Given the description of an element on the screen output the (x, y) to click on. 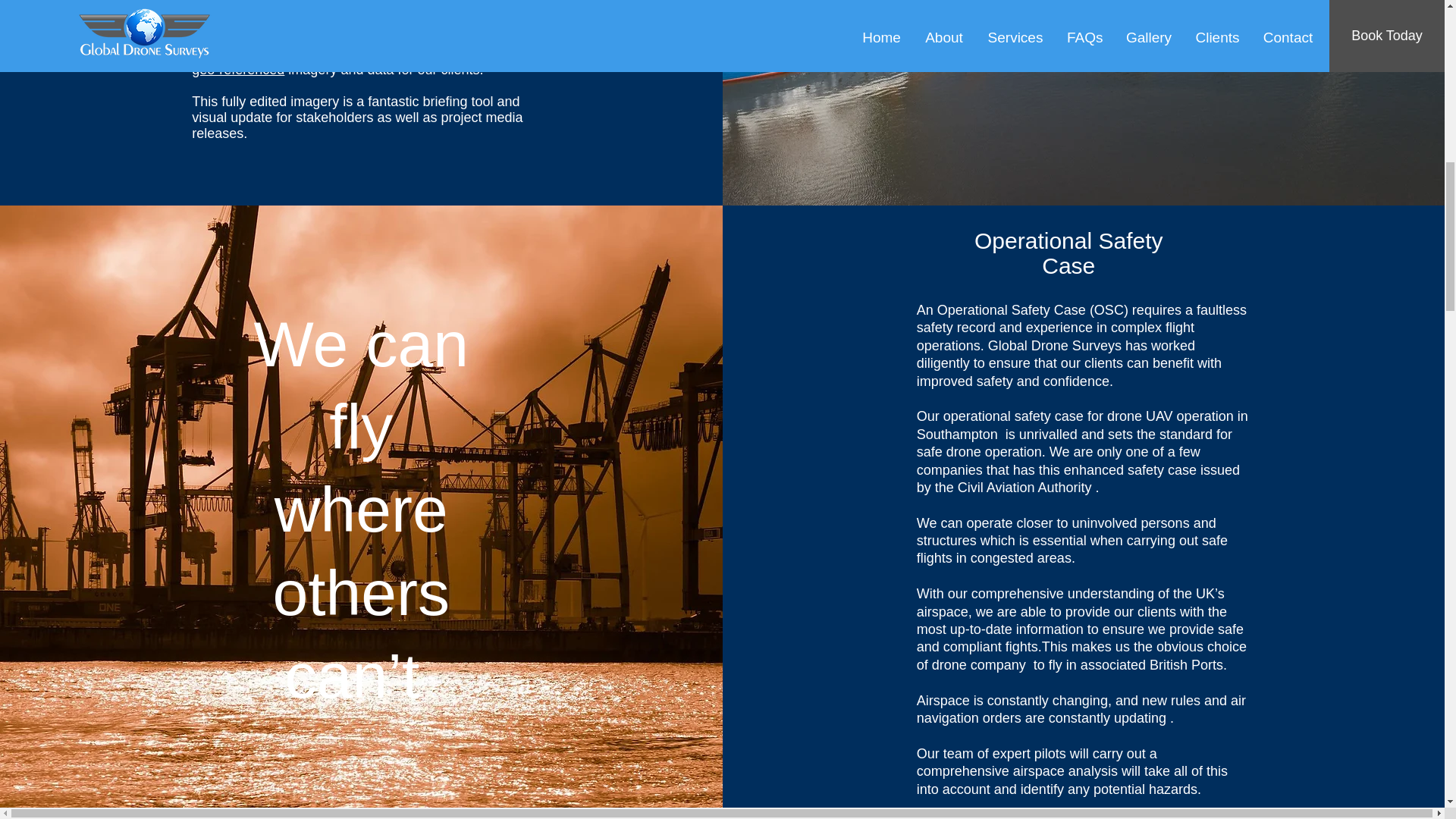
precise high-end geo-referenced (365, 60)
